Given the description of an element on the screen output the (x, y) to click on. 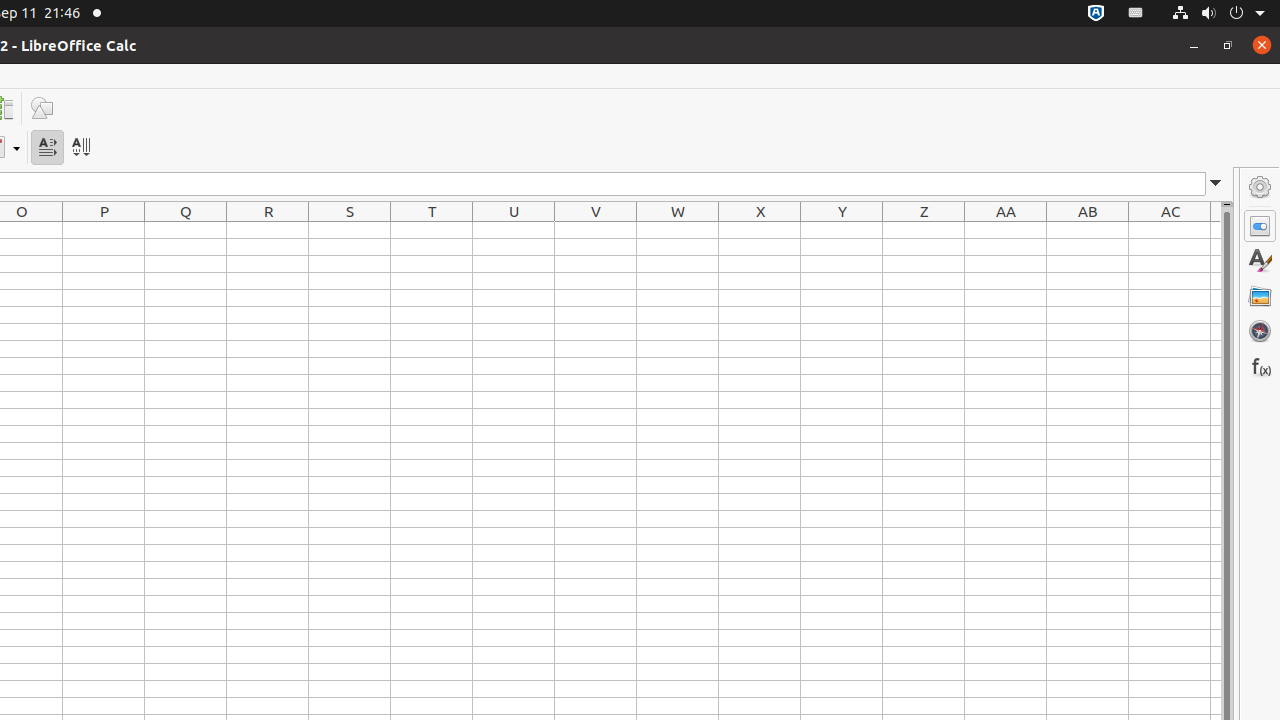
U1 Element type: table-cell (514, 230)
Properties Element type: radio-button (1260, 226)
Draw Functions Element type: toggle-button (41, 108)
R1 Element type: table-cell (268, 230)
